Given the description of an element on the screen output the (x, y) to click on. 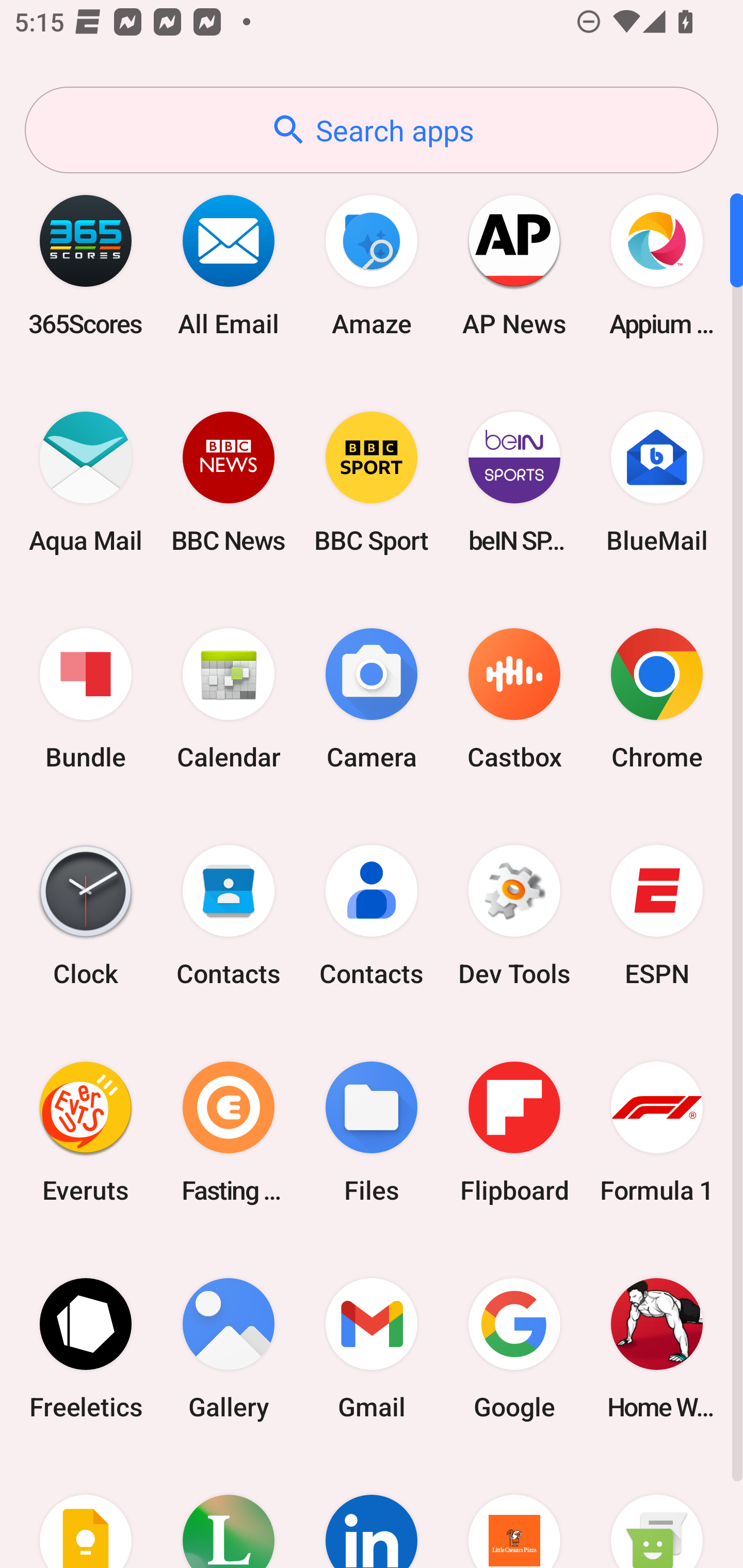
  Search apps (371, 130)
365Scores (85, 264)
All Email (228, 264)
Amaze (371, 264)
AP News (514, 264)
Appium Settings (656, 264)
Aqua Mail (85, 482)
BBC News (228, 482)
BBC Sport (371, 482)
beIN SPORTS (514, 482)
BlueMail (656, 482)
Bundle (85, 699)
Calendar (228, 699)
Camera (371, 699)
Castbox (514, 699)
Chrome (656, 699)
Clock (85, 915)
Contacts (228, 915)
Contacts (371, 915)
Dev Tools (514, 915)
ESPN (656, 915)
Everuts (85, 1131)
Fasting Coach (228, 1131)
Files (371, 1131)
Flipboard (514, 1131)
Formula 1 (656, 1131)
Freeletics (85, 1348)
Gallery (228, 1348)
Gmail (371, 1348)
Google (514, 1348)
Home Workout (656, 1348)
Keep Notes (85, 1512)
Lifesum (228, 1512)
LinkedIn (371, 1512)
Little Caesars Pizza (514, 1512)
Messaging (656, 1512)
